Given the description of an element on the screen output the (x, y) to click on. 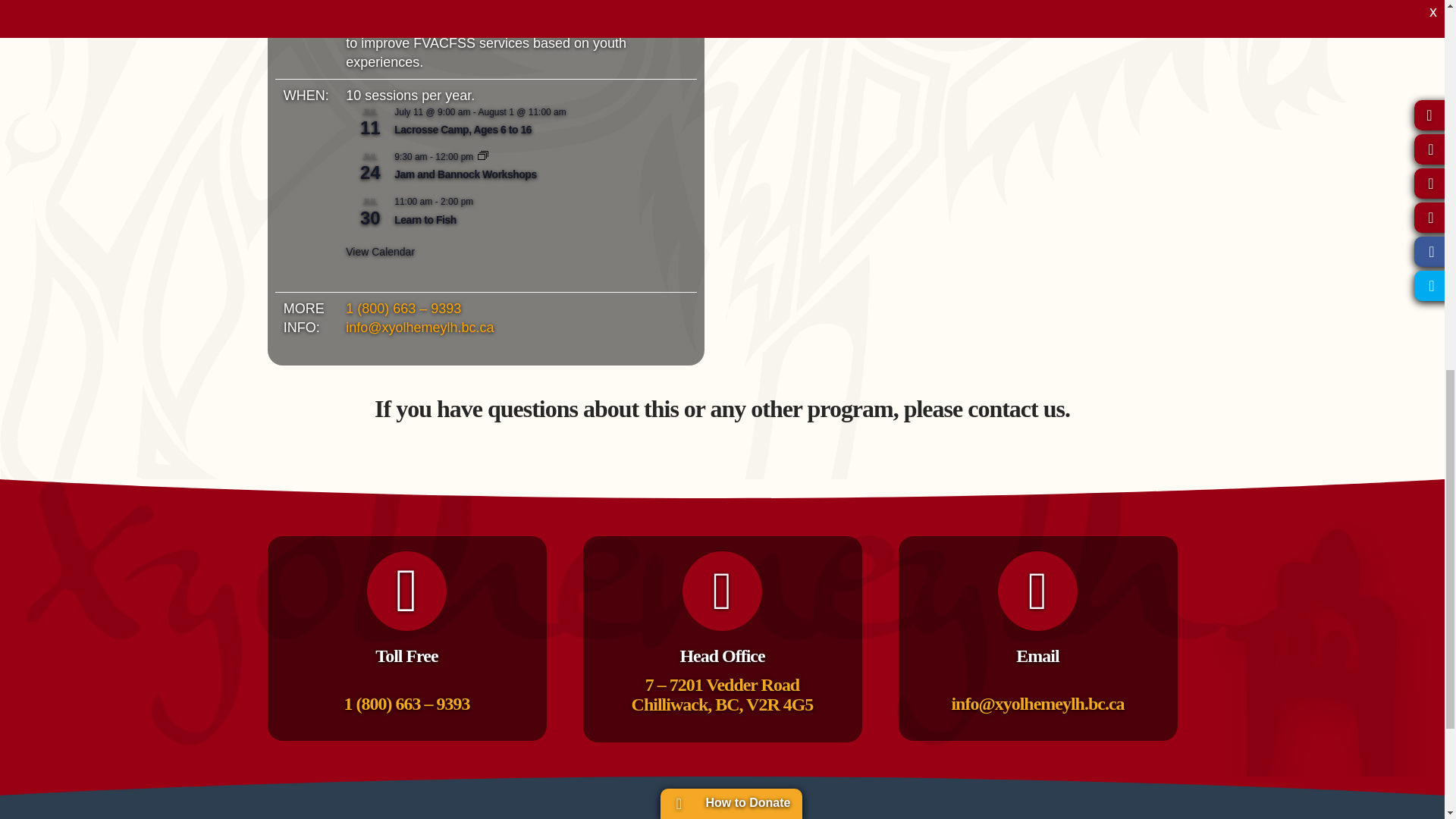
Learn to Fish (425, 219)
Learn to Fish (425, 219)
View Calendar (380, 251)
View more events. (380, 251)
Jam and Bannock Workshops (464, 174)
Lacrosse Camp, Ages 6 to 16 (462, 129)
Jam and Bannock Workshops (464, 174)
Event Series (482, 156)
Lacrosse Camp, Ages 6 to 16 (462, 129)
